Given the description of an element on the screen output the (x, y) to click on. 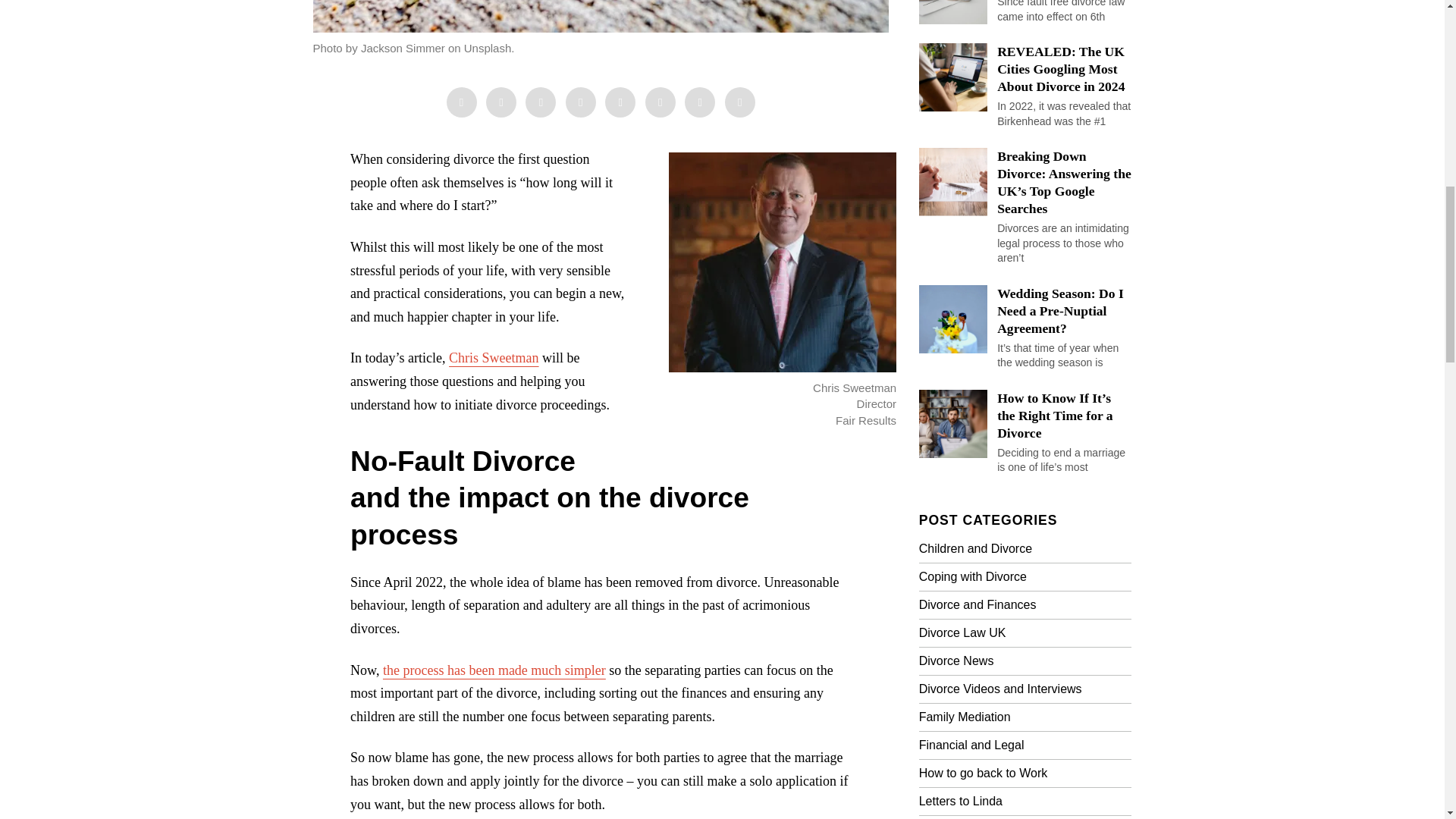
Messenger (501, 101)
Pinterest (580, 101)
Facebook (460, 101)
Twitter (540, 101)
